Given the description of an element on the screen output the (x, y) to click on. 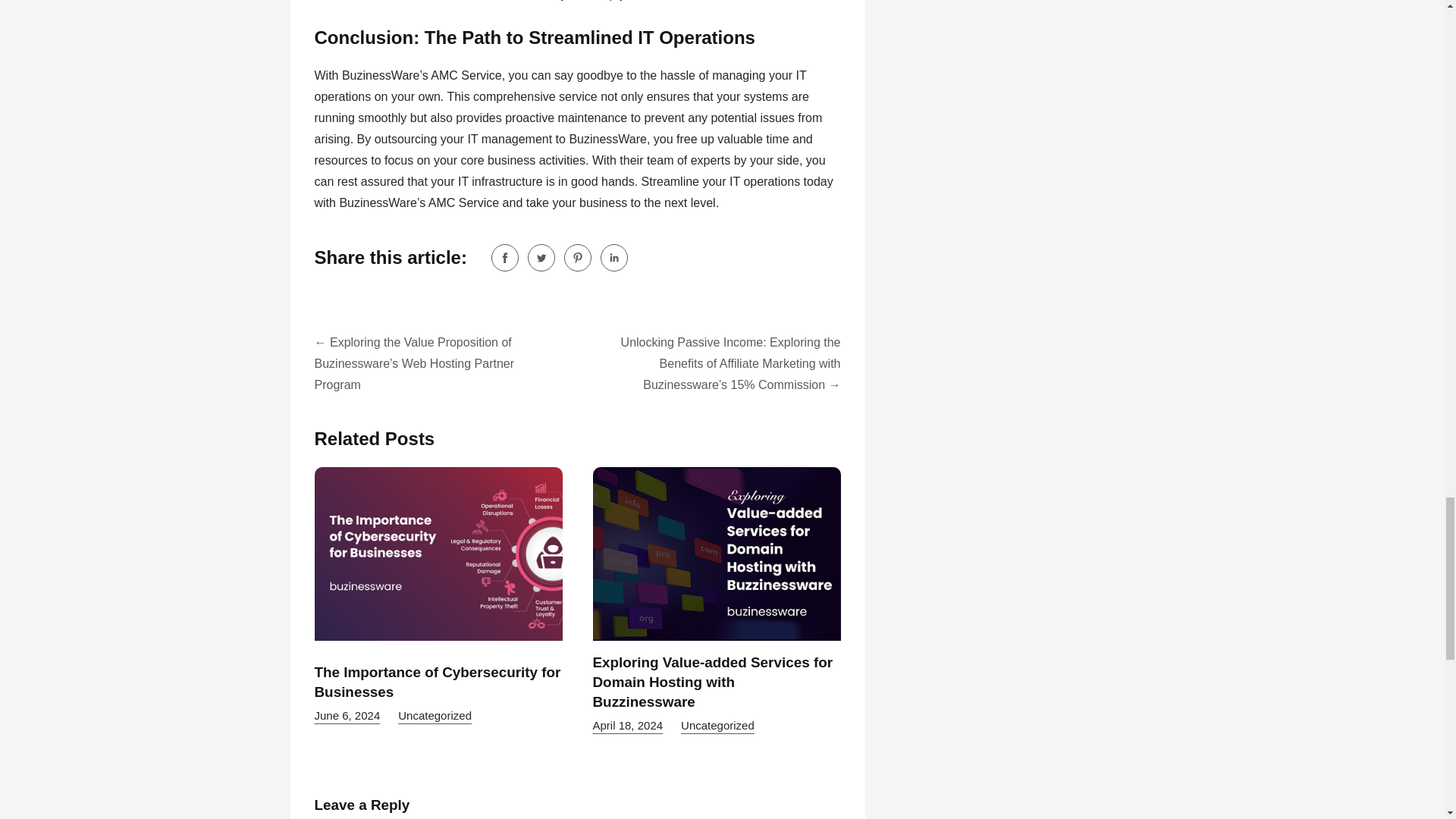
The Importance of Cybersecurity for Businesses (437, 682)
April 18, 2024 (627, 725)
Uncategorized (434, 715)
June 6, 2024 (347, 715)
Uncategorized (717, 725)
